Given the description of an element on the screen output the (x, y) to click on. 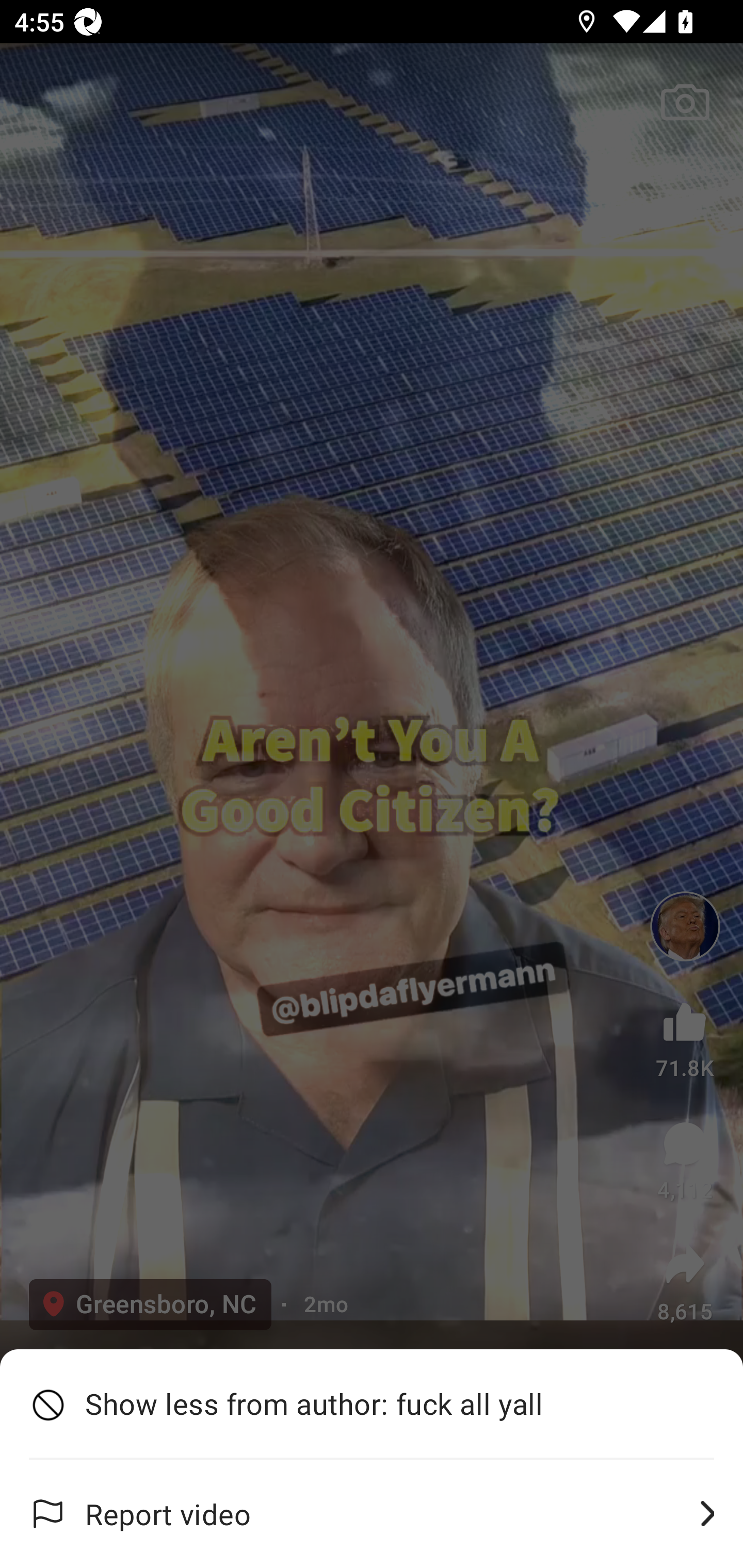
Show less from author: fuck all yall (371, 1404)
Report video (371, 1513)
